Given the description of an element on the screen output the (x, y) to click on. 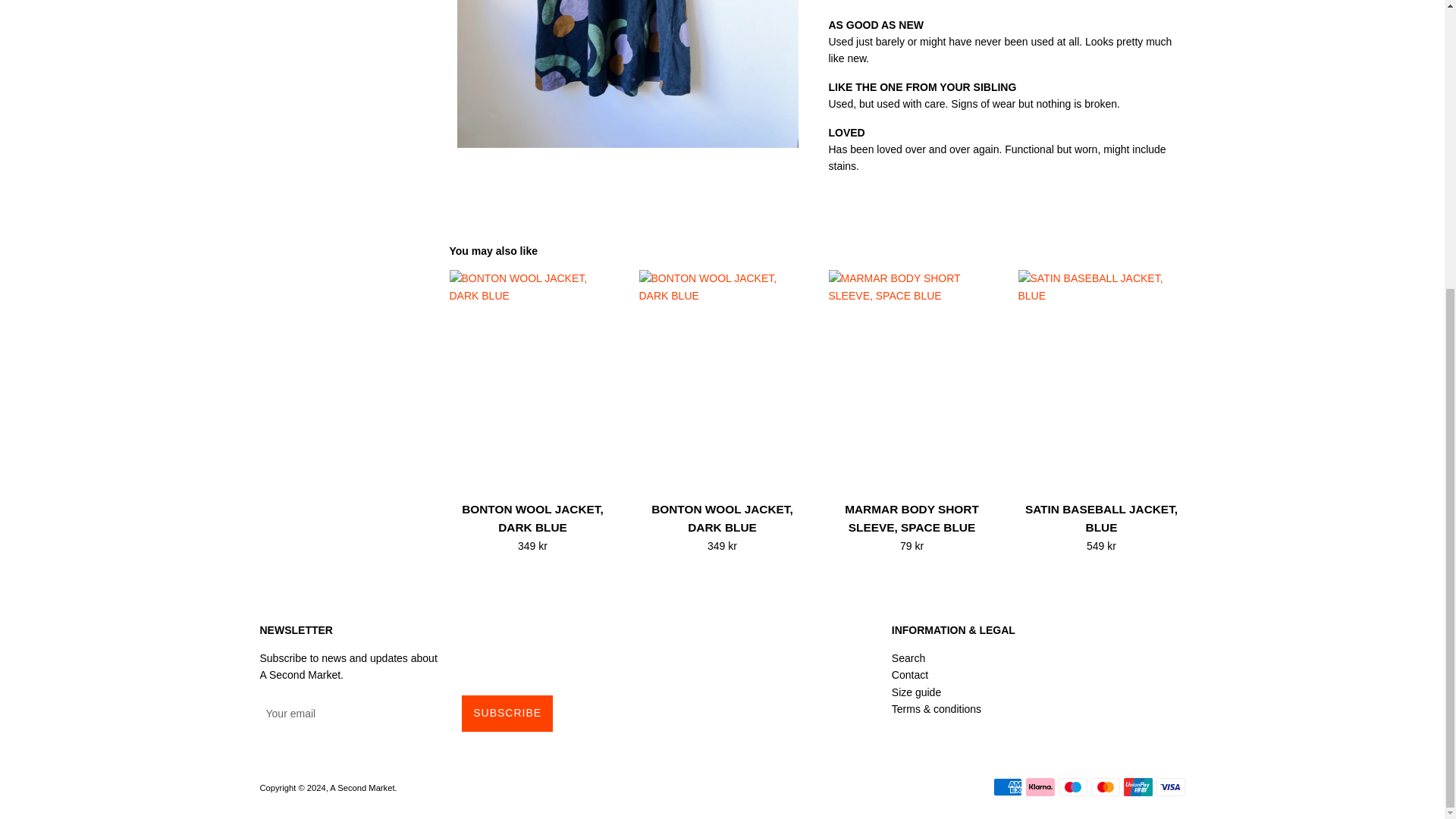
Klarna (1039, 787)
Visa (1170, 787)
BONTON WOOL JACKET, DARK BLUE (721, 518)
SATIN BASEBALL JACKET, BLUE (1101, 518)
Mastercard (1104, 787)
BONTON WOOL JACKET, DARK BLUE (532, 518)
Union Pay (1138, 787)
American Express (1007, 787)
Maestro (1072, 787)
MARMAR BODY SHORT SLEEVE, SPACE BLUE (911, 518)
